Given the description of an element on the screen output the (x, y) to click on. 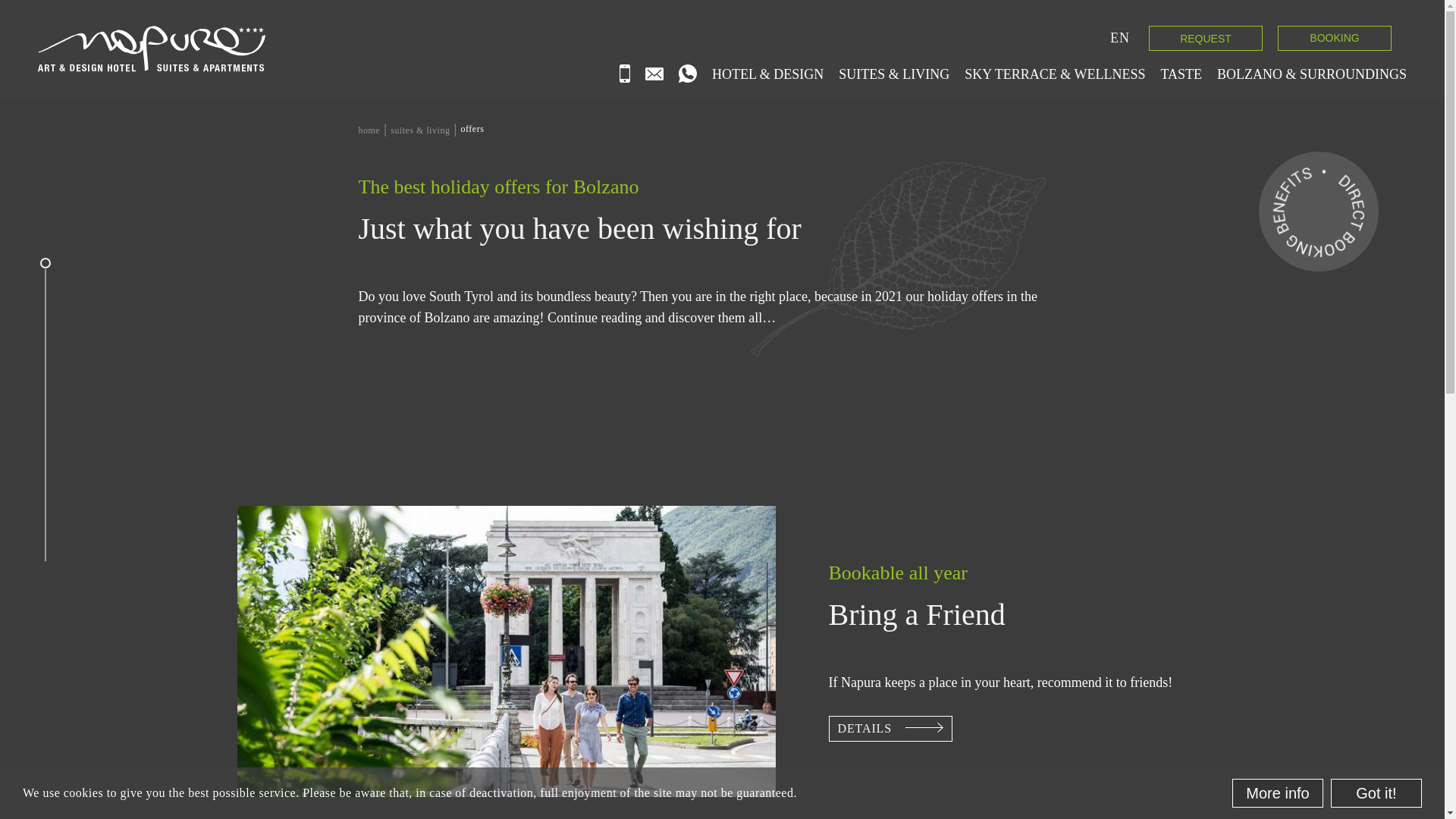
TASTE (1181, 73)
BOOKING (1334, 37)
Taste (1181, 73)
REQUEST (1205, 37)
